Given the description of an element on the screen output the (x, y) to click on. 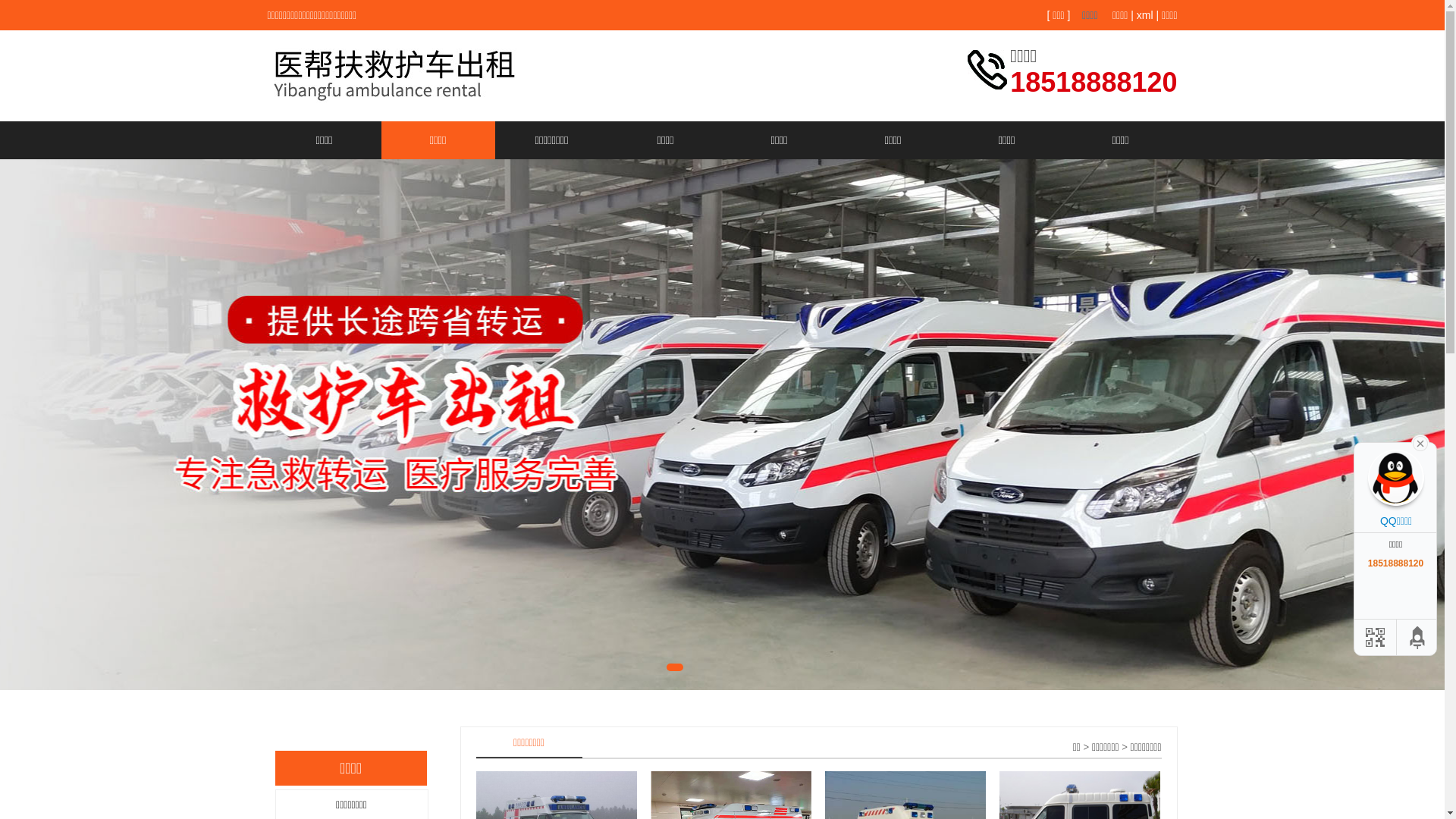
1 Element type: text (674, 667)
  Element type: text (1420, 442)
xml Element type: text (1144, 15)
